Given the description of an element on the screen output the (x, y) to click on. 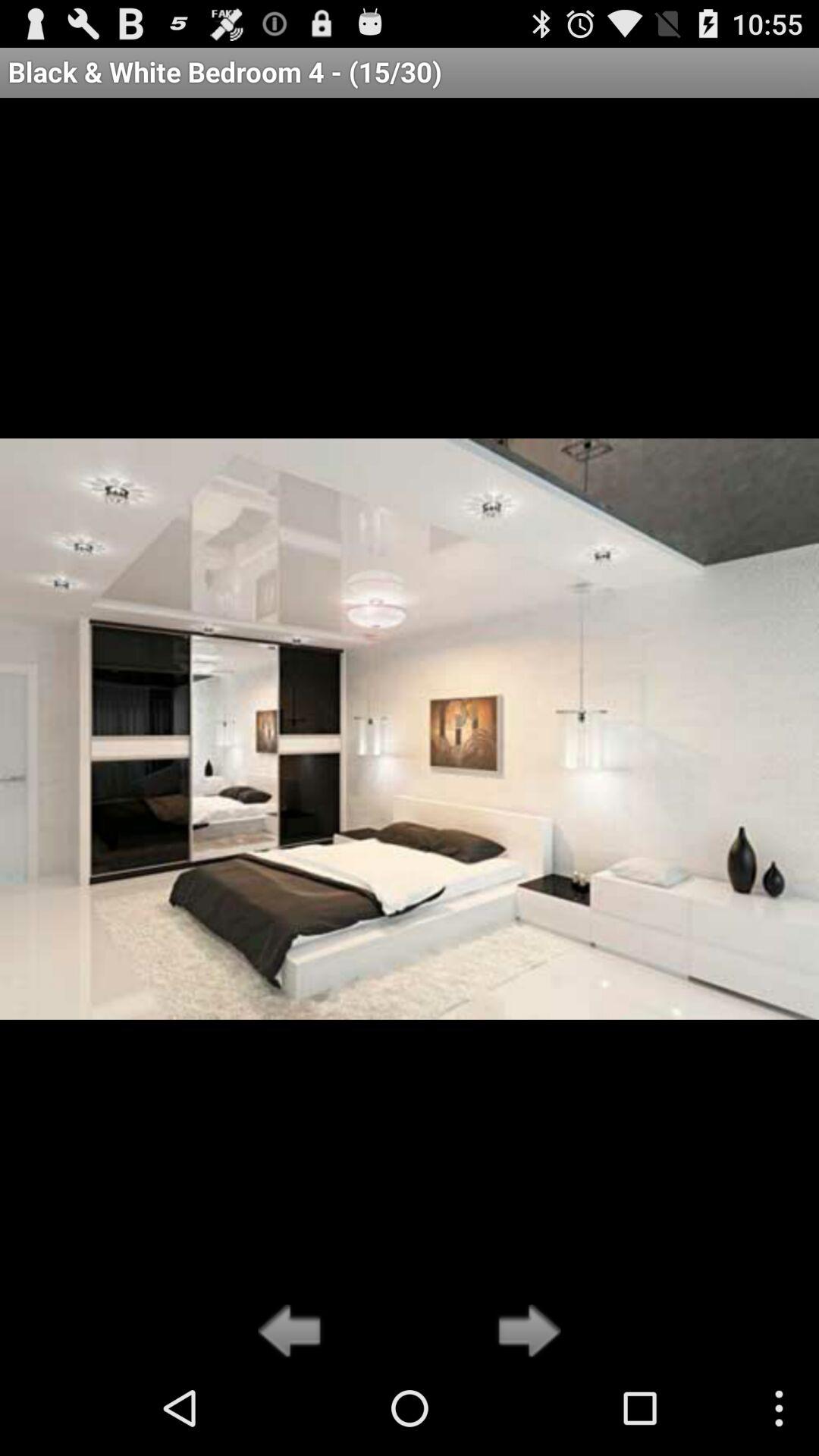
go back to the previous image (293, 1332)
